Given the description of an element on the screen output the (x, y) to click on. 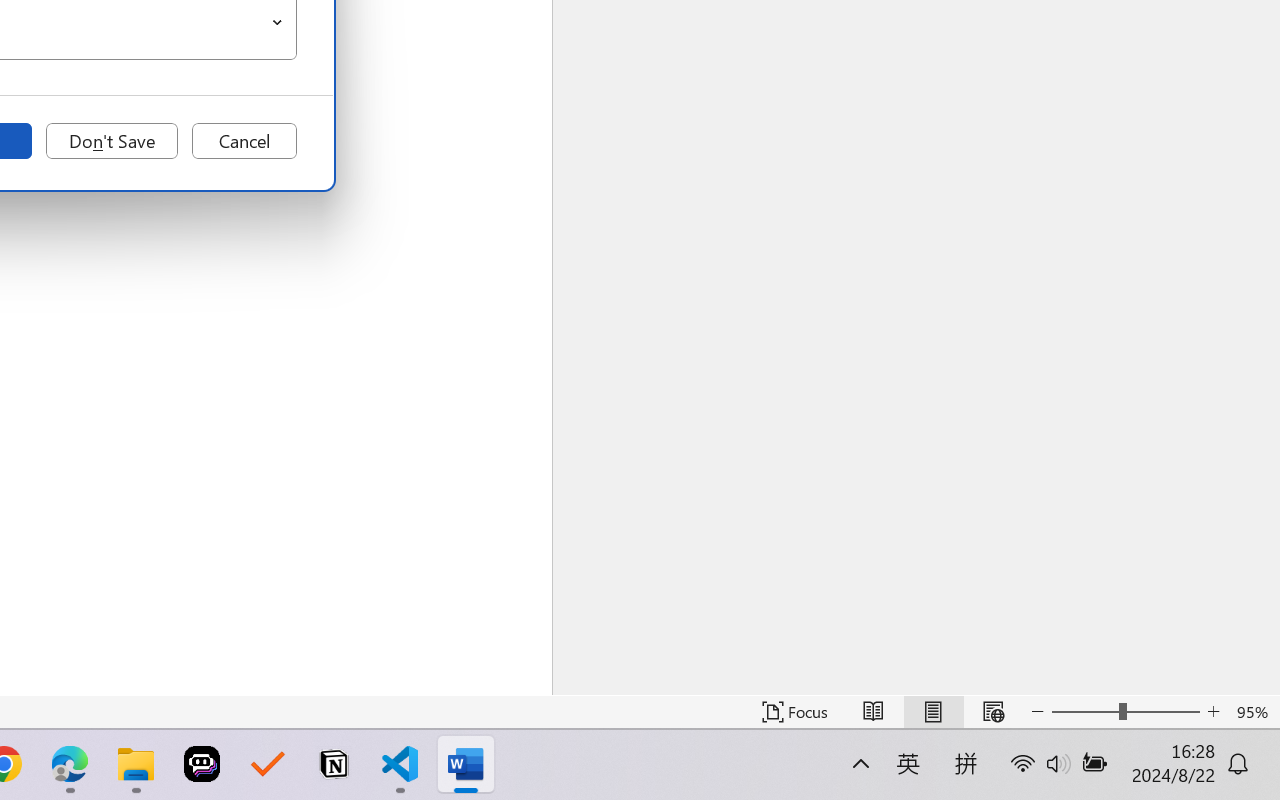
Zoom 95% (1253, 712)
Notion (333, 764)
Cancel (244, 141)
